Given the description of an element on the screen output the (x, y) to click on. 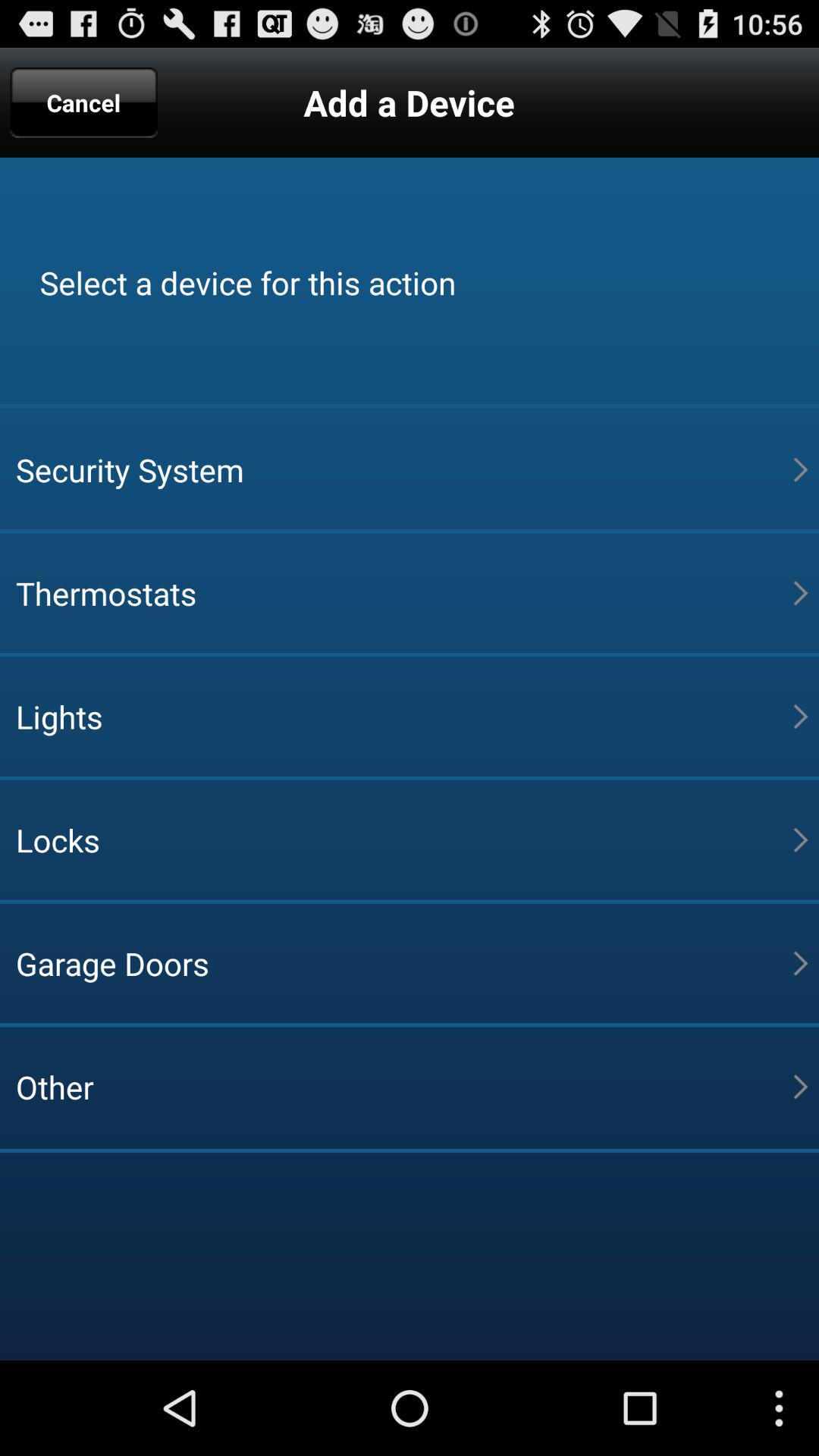
select the item below the security system app (403, 592)
